Given the description of an element on the screen output the (x, y) to click on. 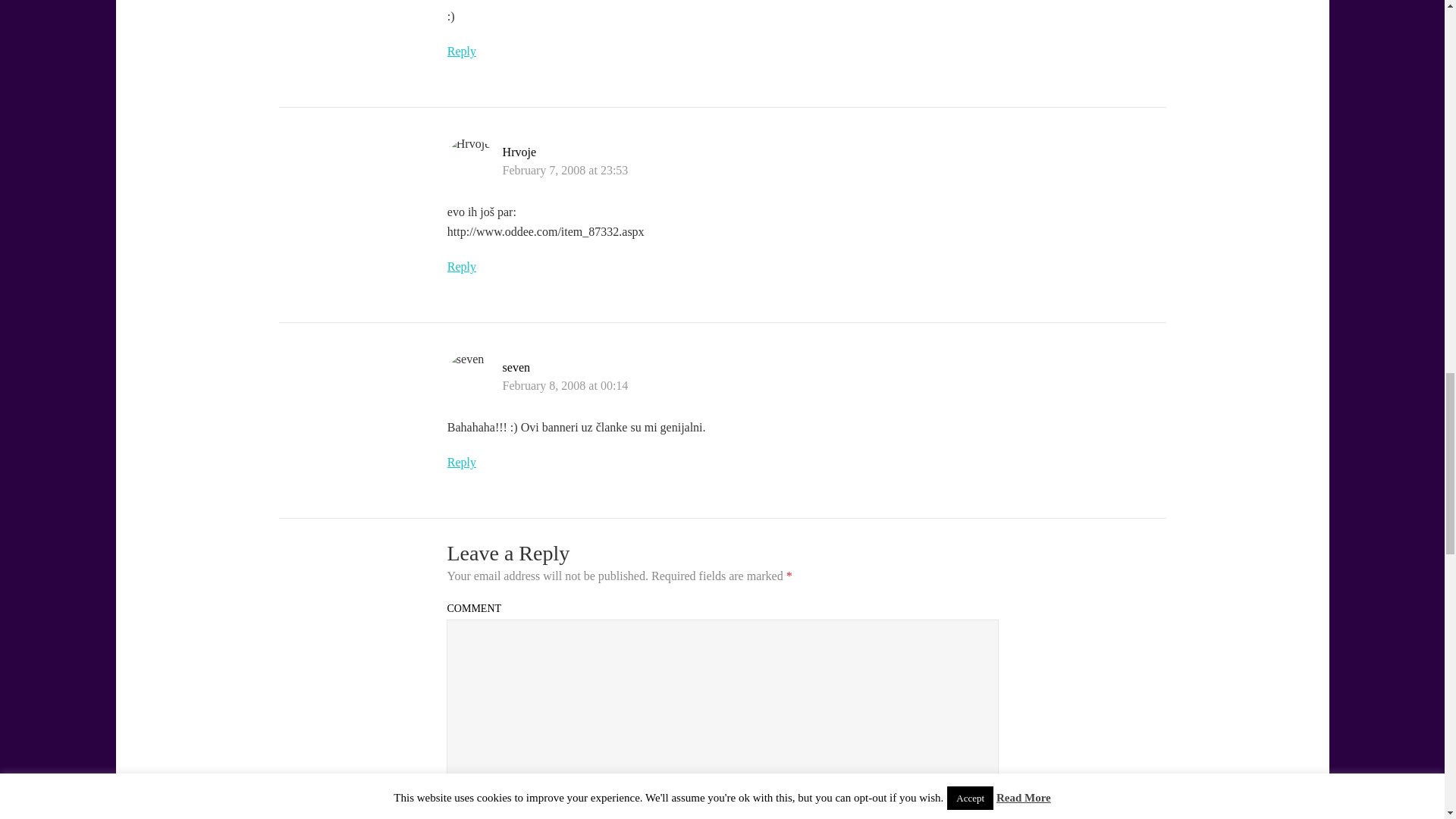
seven (515, 367)
February 7, 2008 at 23:53 (565, 169)
Reply (461, 461)
Reply (461, 51)
Reply (461, 266)
February 8, 2008 at 00:14 (565, 385)
